Given the description of an element on the screen output the (x, y) to click on. 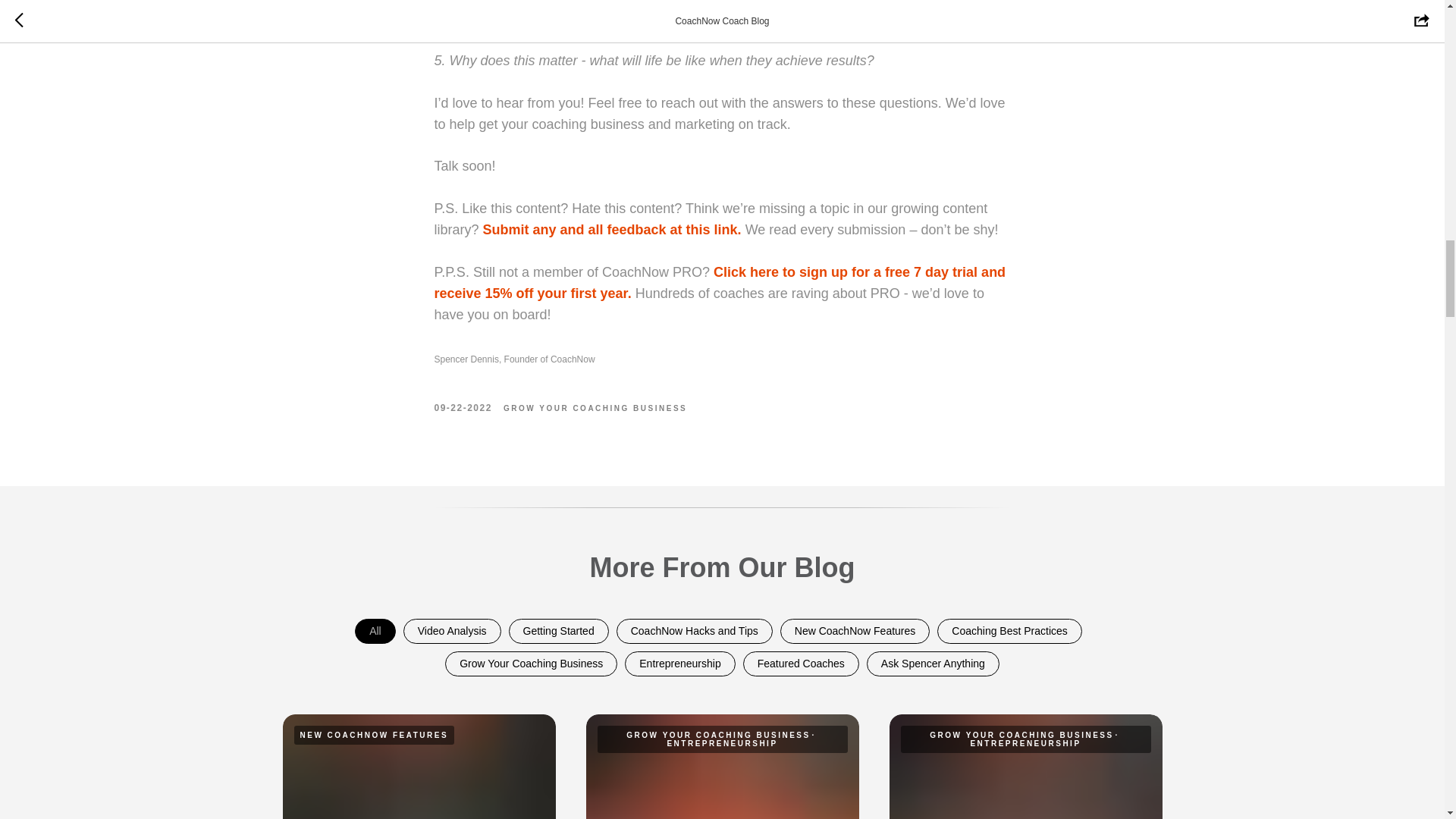
Spencer Dennis, Founder of CoachNow (721, 359)
GROW YOUR COACHING BUSINESS (595, 407)
Video Analysis (452, 630)
New CoachNow Features (855, 630)
Getting Started (558, 630)
CoachNow Hacks and Tips (694, 630)
Entrepreneurship (679, 663)
Coaching Best Practices (1009, 630)
Grow Your Coaching Business (530, 663)
All (374, 630)
